Given the description of an element on the screen output the (x, y) to click on. 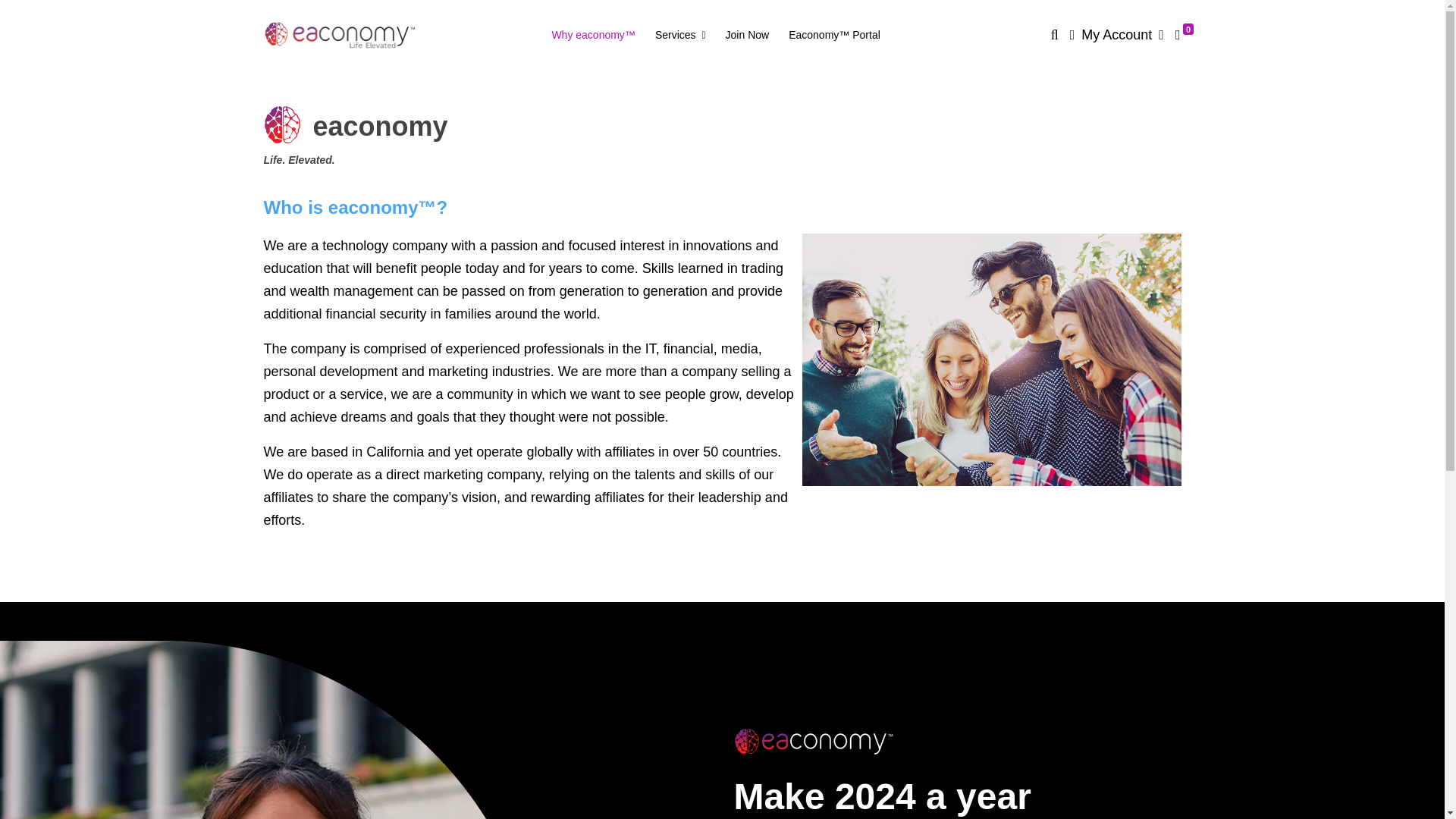
Join Now (747, 34)
My Account (1116, 34)
Services (680, 34)
